Given the description of an element on the screen output the (x, y) to click on. 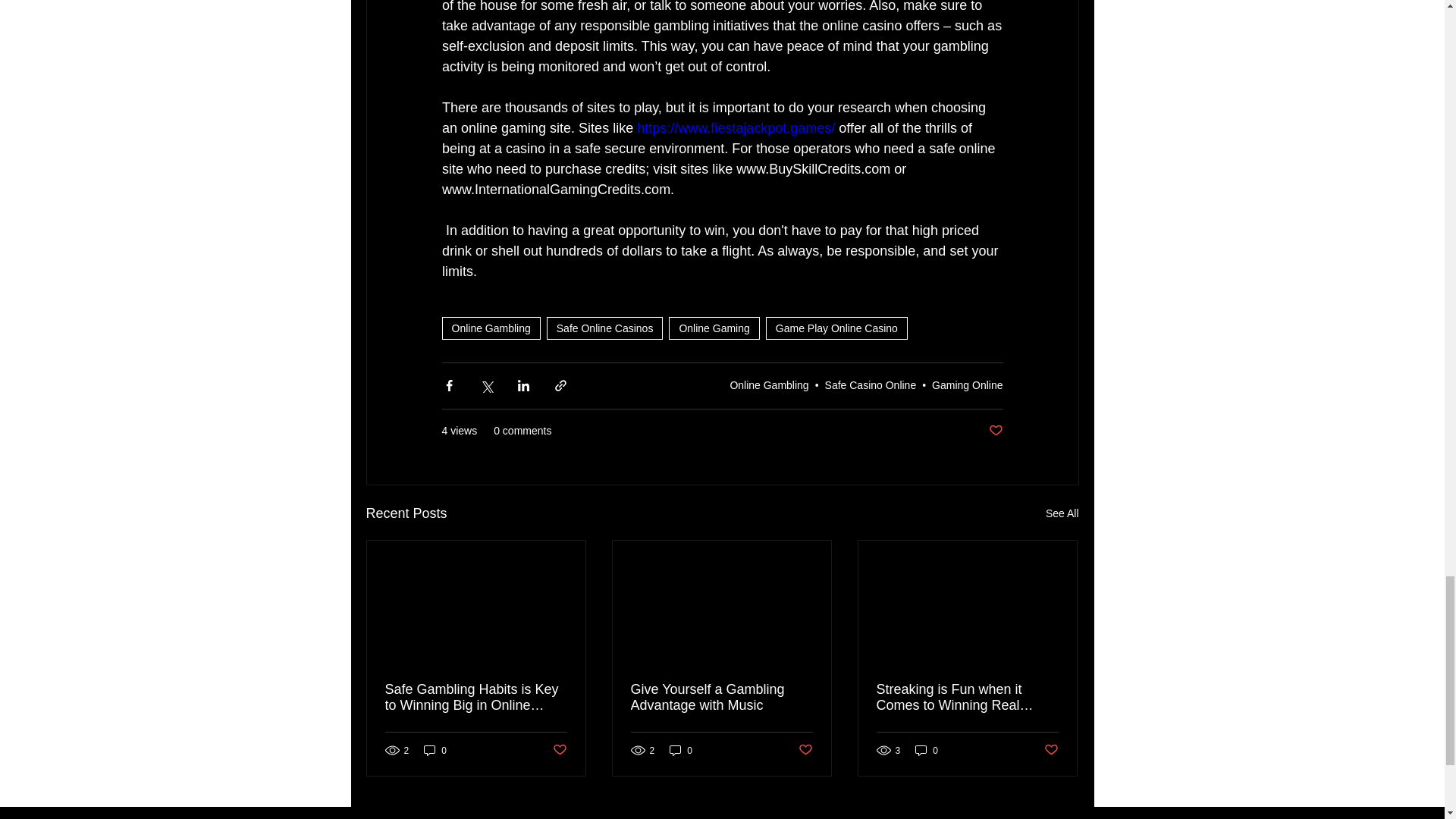
Safe Online Casinos (605, 327)
Post not marked as liked (995, 430)
Online Gambling (768, 385)
Game Play Online Casino (836, 327)
See All (1061, 513)
Online Gaming (713, 327)
Online Gambling (490, 327)
Gaming Online (967, 385)
Safe Casino Online (871, 385)
